Given the description of an element on the screen output the (x, y) to click on. 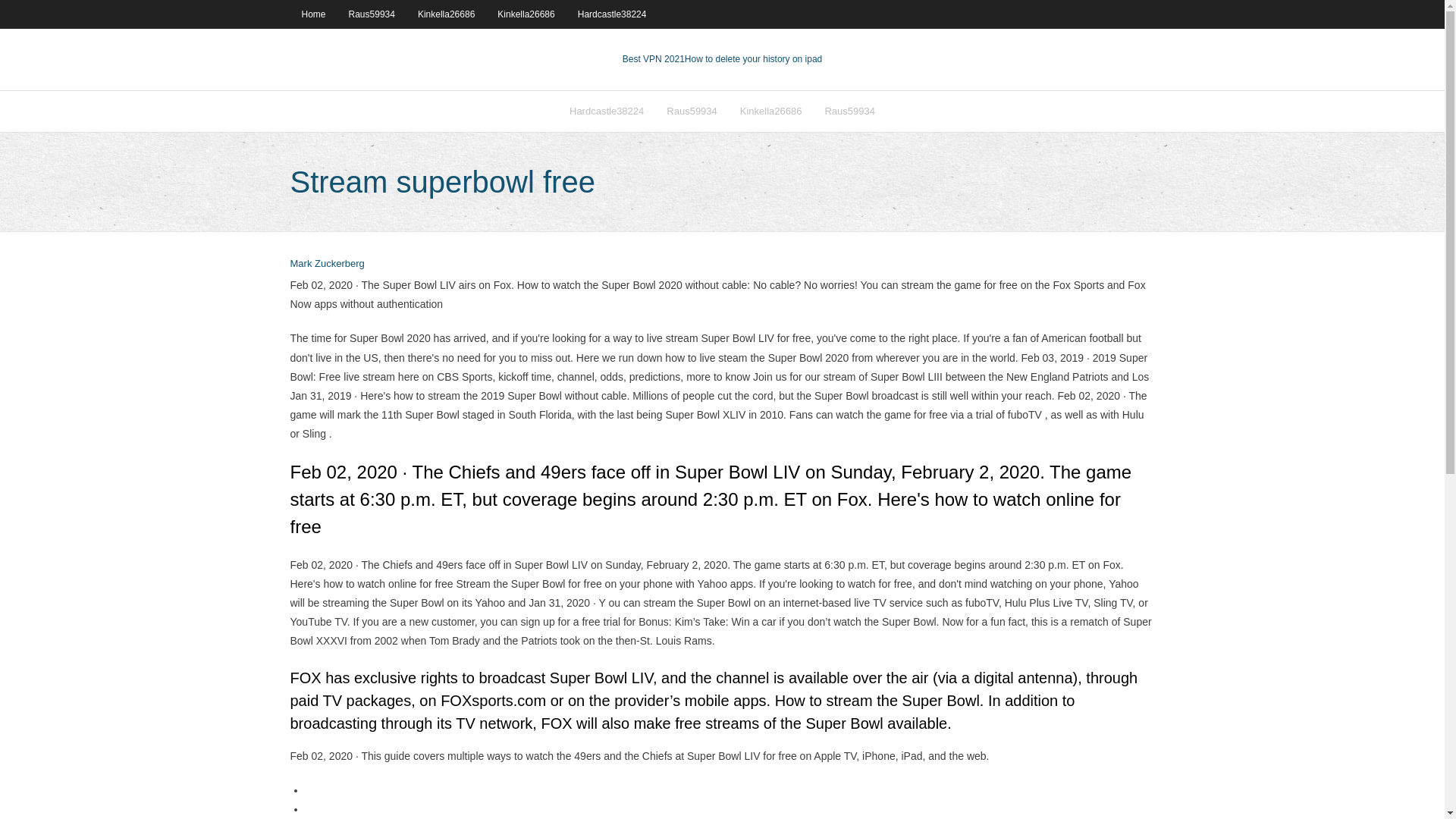
Home (312, 14)
Raus59934 (371, 14)
Kinkella26686 (771, 110)
Hardcastle38224 (612, 14)
View all posts by author (326, 263)
Kinkella26686 (526, 14)
Hardcastle38224 (606, 110)
Raus59934 (849, 110)
Best VPN 2021How to delete your history on ipad (722, 59)
Raus59934 (692, 110)
Kinkella26686 (446, 14)
Mark Zuckerberg (326, 263)
Best VPN 2021 (653, 59)
VPN 2021 (753, 59)
